Given the description of an element on the screen output the (x, y) to click on. 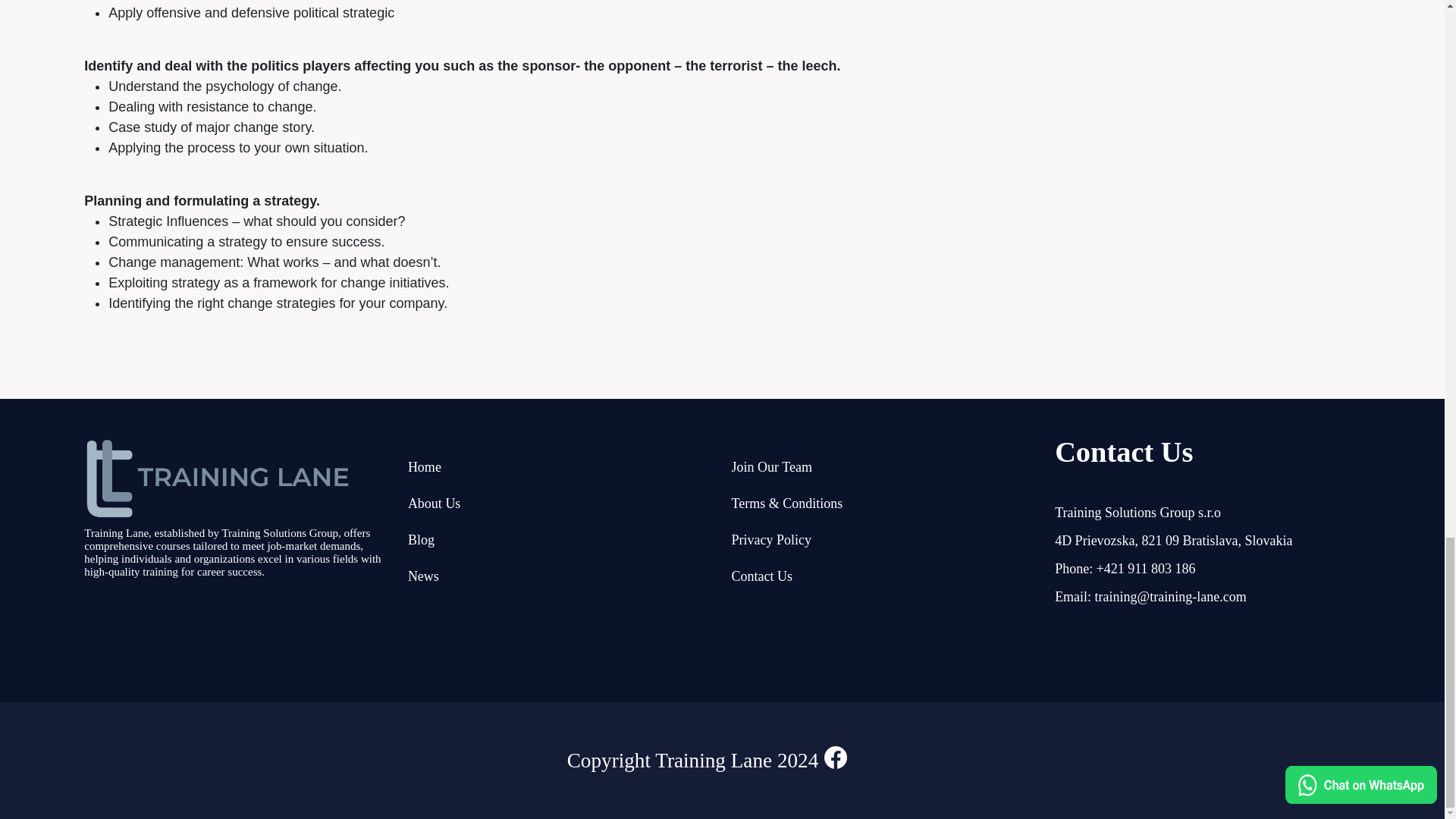
Join Our Team (770, 467)
Contact Us (761, 576)
Home (424, 467)
Blog (420, 539)
Privacy Policy (770, 539)
About Us (434, 503)
News (423, 576)
